Given the description of an element on the screen output the (x, y) to click on. 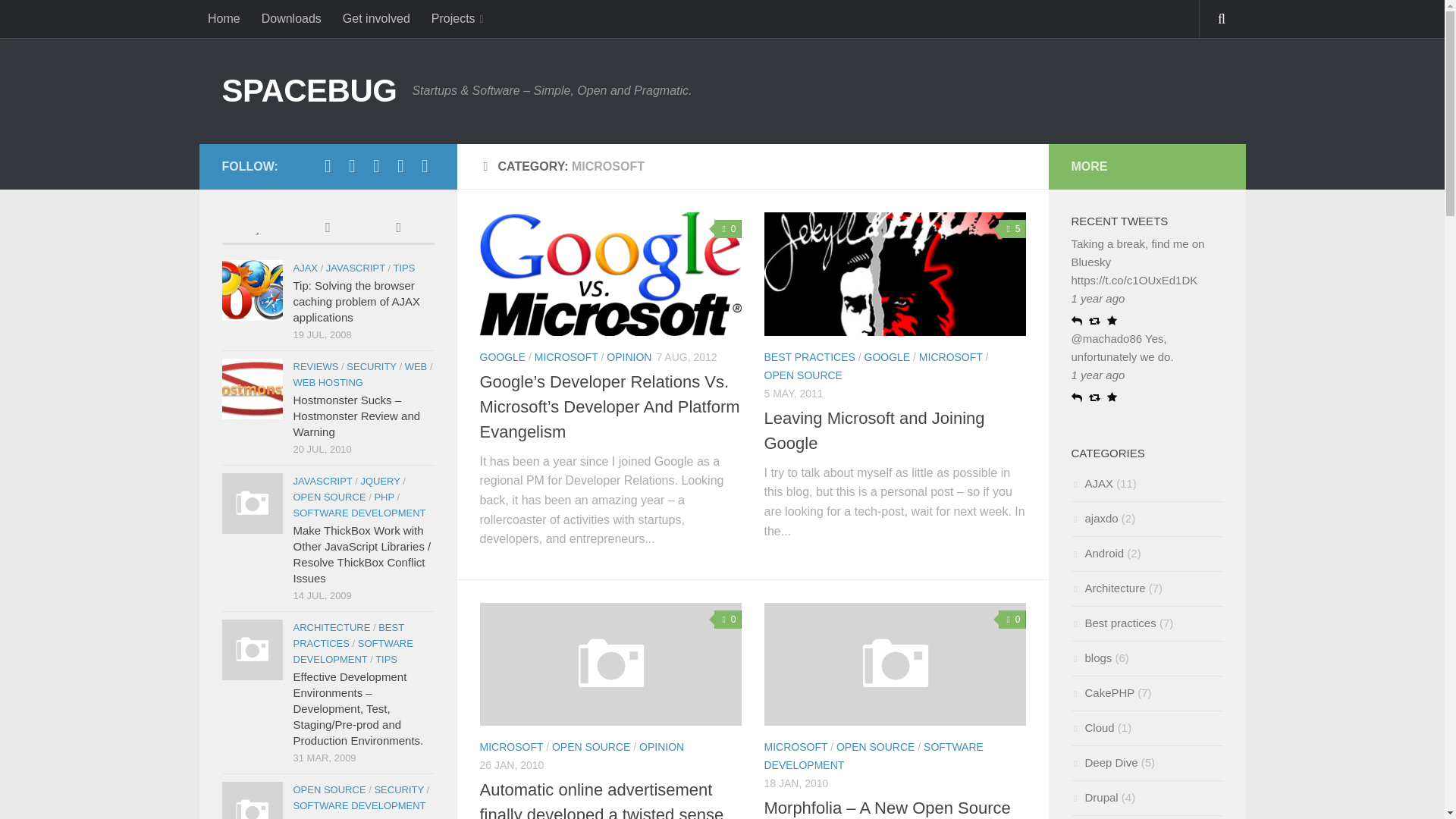
0 (727, 619)
SPACEBUG (308, 90)
MICROSOFT (566, 357)
Projects (457, 18)
Leaving Microsoft and Joining Google (895, 273)
Leaving Microsoft and Joining Google (874, 430)
MICROSOFT (950, 357)
OPINION (661, 746)
5 (1012, 229)
